Given the description of an element on the screen output the (x, y) to click on. 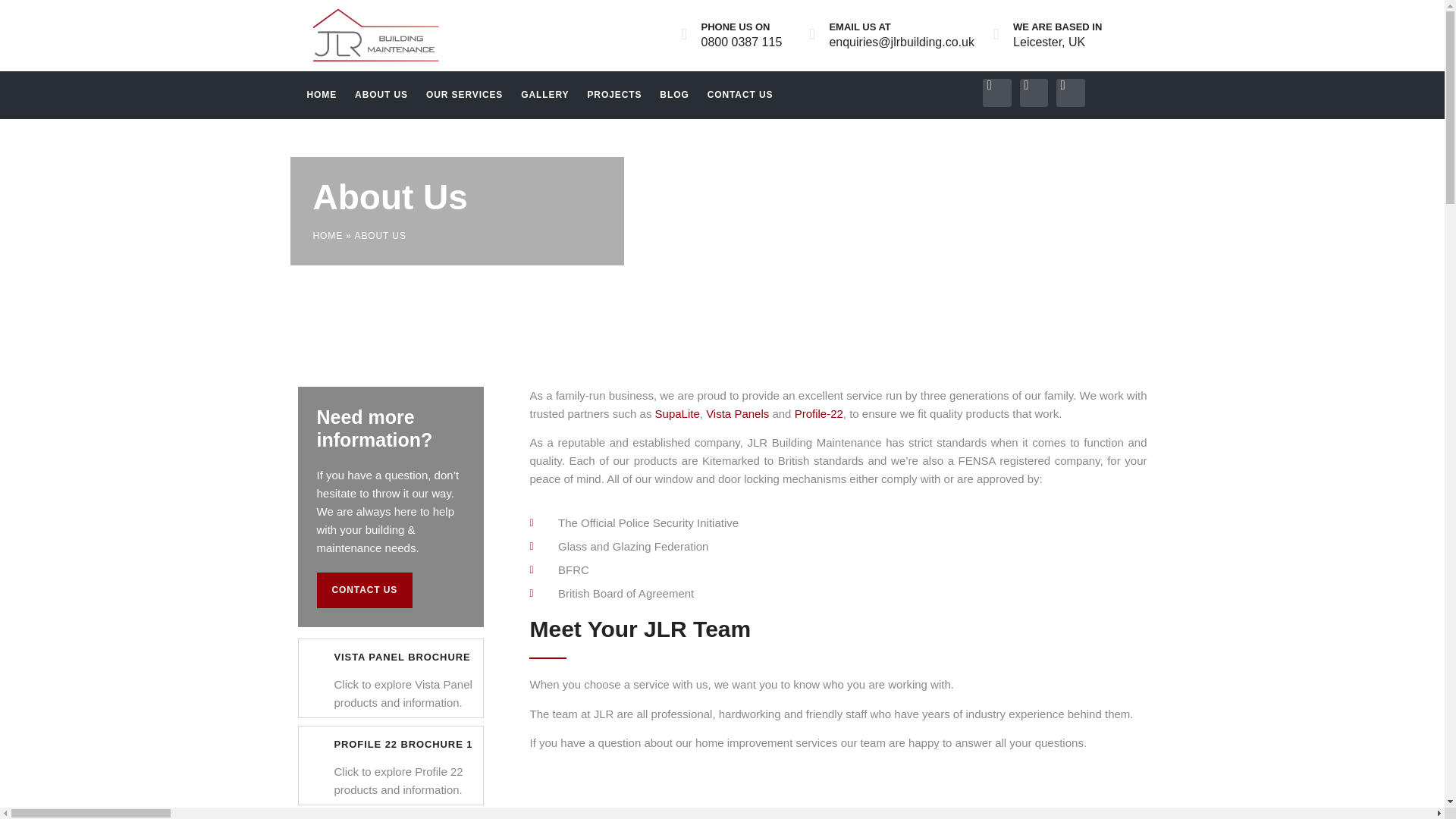
CONTACT US (740, 94)
Vista Panel Brochure (311, 653)
Profile 22 Brochure - Part One (311, 741)
Vista Panel Brochure (401, 656)
ABOUT US (381, 94)
PROJECTS (614, 94)
HOME (327, 235)
OUR SERVICES (464, 94)
EMAIL US AT (858, 26)
BLOG (674, 94)
CONTACT US (365, 590)
HOME (320, 94)
PHONE US ON (735, 26)
GALLERY (544, 94)
Profile 22 Brochure - Part One (402, 744)
